Given the description of an element on the screen output the (x, y) to click on. 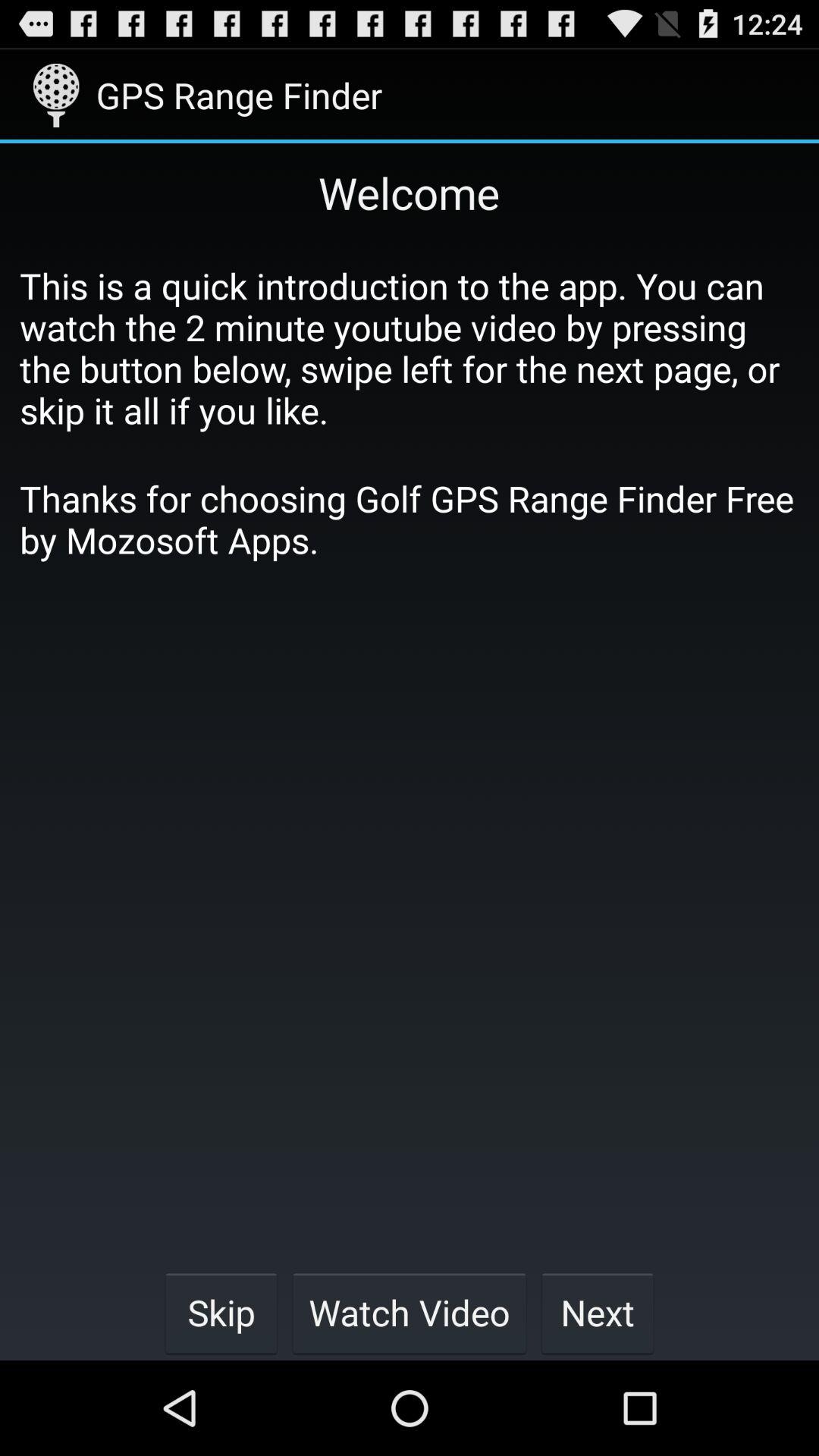
launch skip (220, 1312)
